Given the description of an element on the screen output the (x, y) to click on. 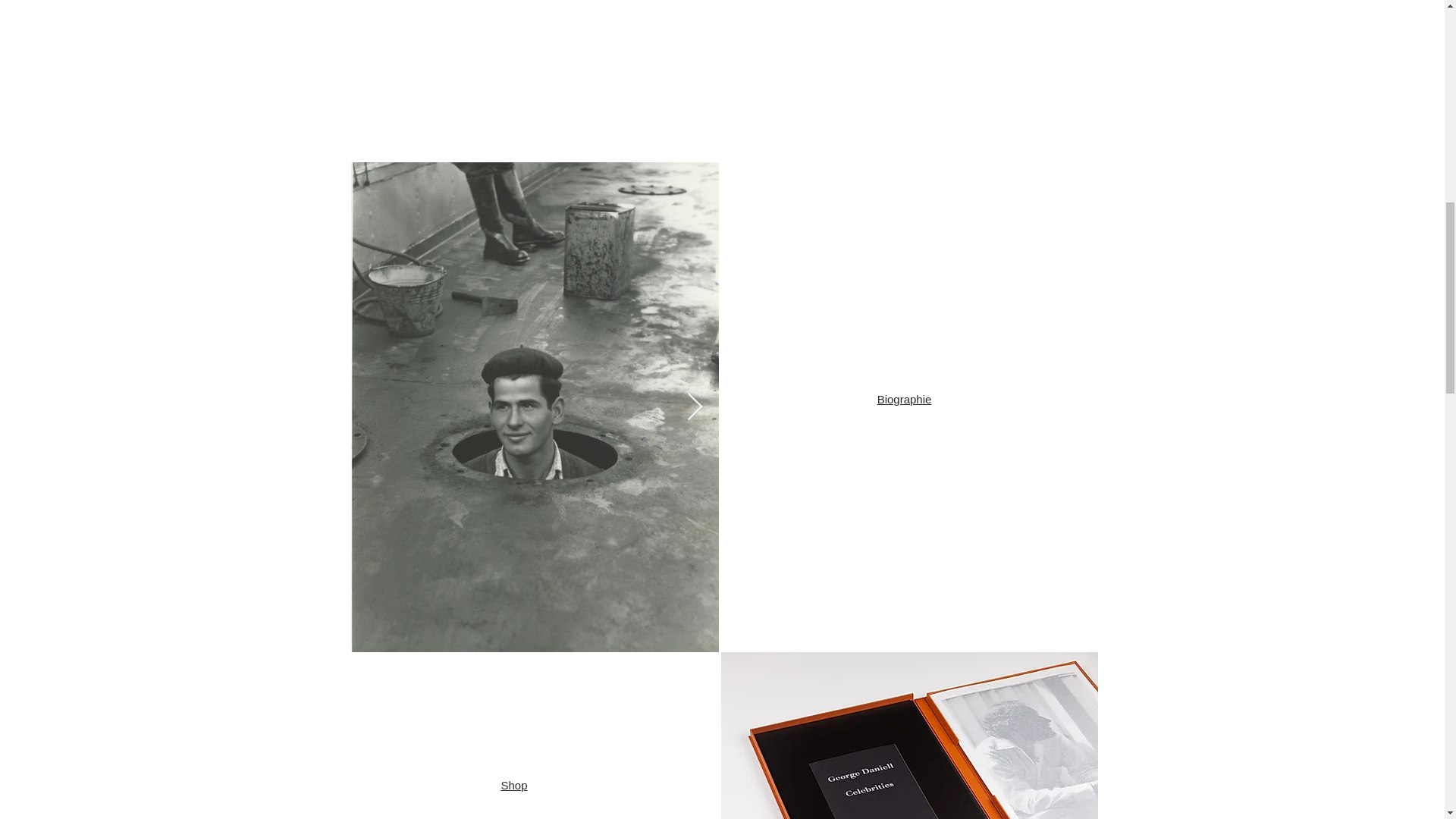
Shop (513, 784)
Biographie (904, 399)
